Given the description of an element on the screen output the (x, y) to click on. 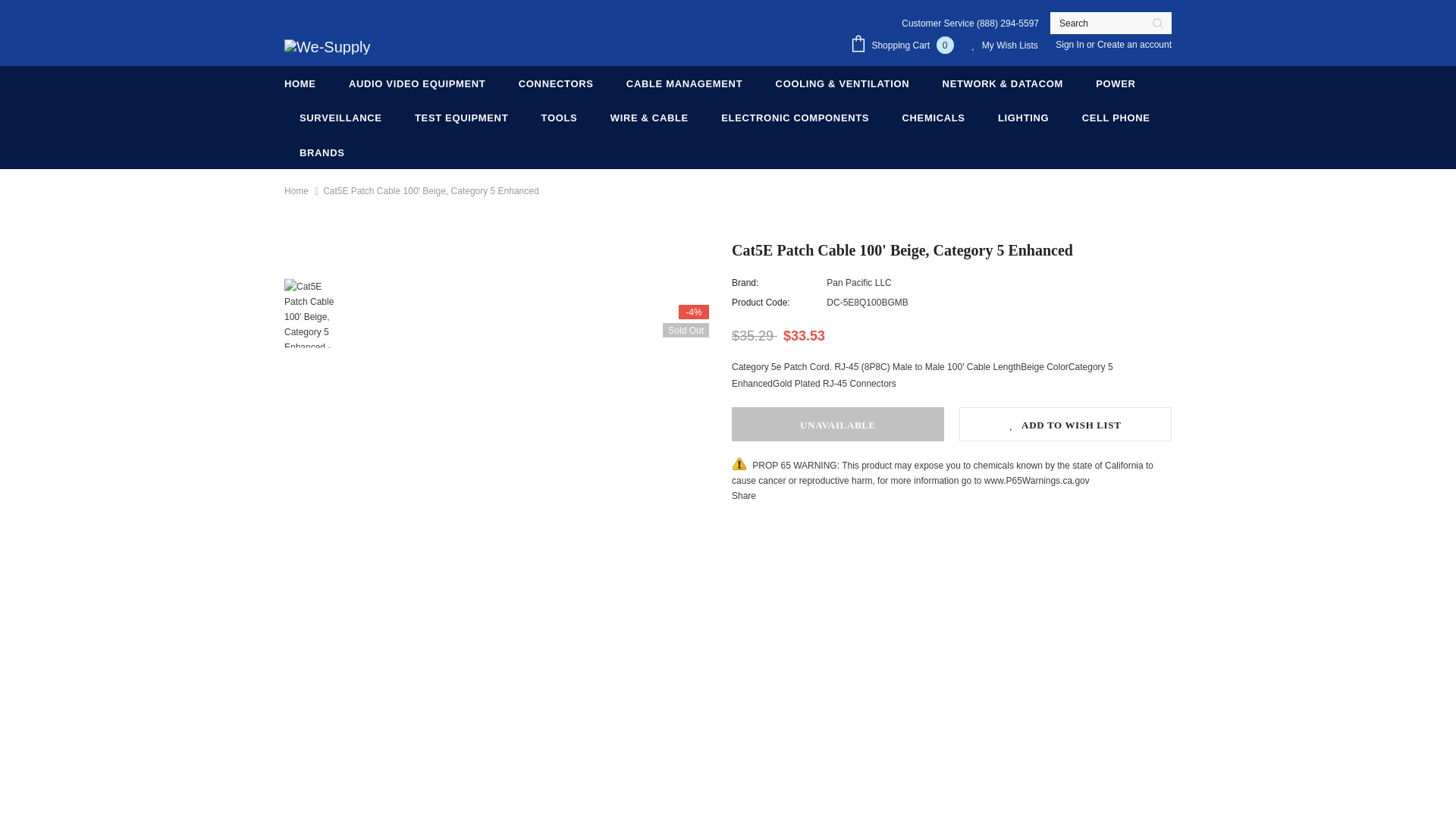
Create an account (1134, 44)
Unavailable (837, 424)
Pan Pacific LLC (859, 282)
Sign In (1070, 44)
Shopping Cart 0 (905, 46)
Cart (905, 46)
My Wish Lists (1005, 46)
HOME (299, 82)
AUDIO VIDEO EQUIPMENT (417, 82)
Logo (326, 45)
My Wish Lists (1005, 46)
